Given the description of an element on the screen output the (x, y) to click on. 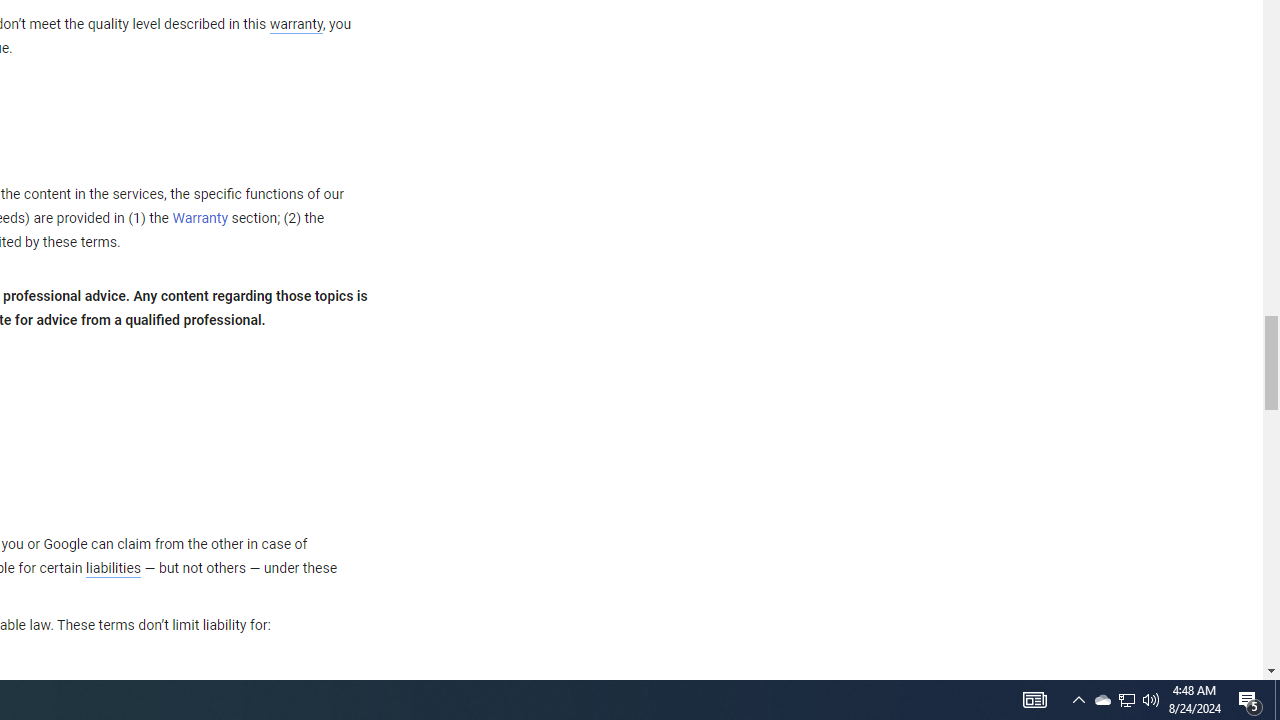
warranty (295, 25)
Warranty (200, 219)
liabilities (113, 568)
